Given the description of an element on the screen output the (x, y) to click on. 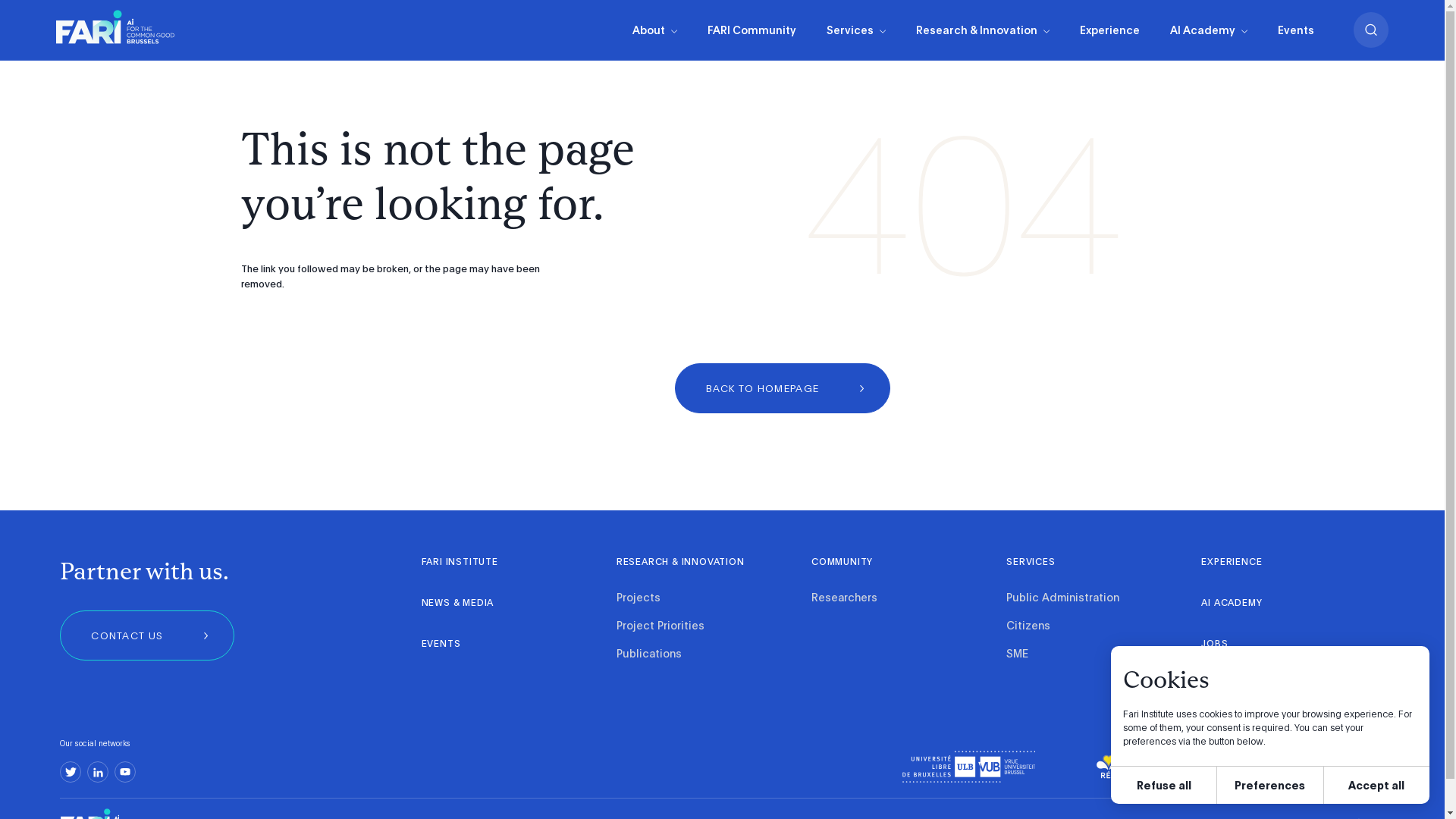
About Element type: text (654, 29)
AI Academy Element type: text (1207, 29)
FARI Community Element type: text (750, 29)
Publications Element type: text (648, 654)
BACK TO HOMEPAGE Element type: text (782, 388)
Public Administration Element type: text (1062, 598)
RESEARCH & INNOVATION Element type: text (680, 562)
Projects Element type: text (638, 598)
EXPERIENCE Element type: text (1231, 562)
CONTACT US Element type: text (146, 635)
Refuse all Element type: text (1163, 784)
SME Element type: text (1021, 654)
Events Element type: text (1294, 29)
Researchers Element type: text (844, 598)
Project Priorities Element type: text (660, 626)
Citizens Element type: text (1028, 626)
AI Academy Element type: text (1207, 29)
FARI INSTITUTE Element type: text (459, 562)
Preferences Element type: text (1269, 784)
AI ACADEMY Element type: text (1231, 603)
Experience Element type: text (1109, 29)
Services Element type: text (855, 29)
JOBS Element type: text (1216, 644)
EVENTS Element type: text (441, 644)
SERVICES Element type: text (1030, 562)
COMMUNITY Element type: text (841, 562)
Research & Innovation Element type: text (982, 29)
Accept all Element type: text (1376, 784)
NEWS & MEDIA Element type: text (457, 603)
Research & Innovation Element type: text (982, 29)
Services Element type: text (855, 29)
